Given the description of an element on the screen output the (x, y) to click on. 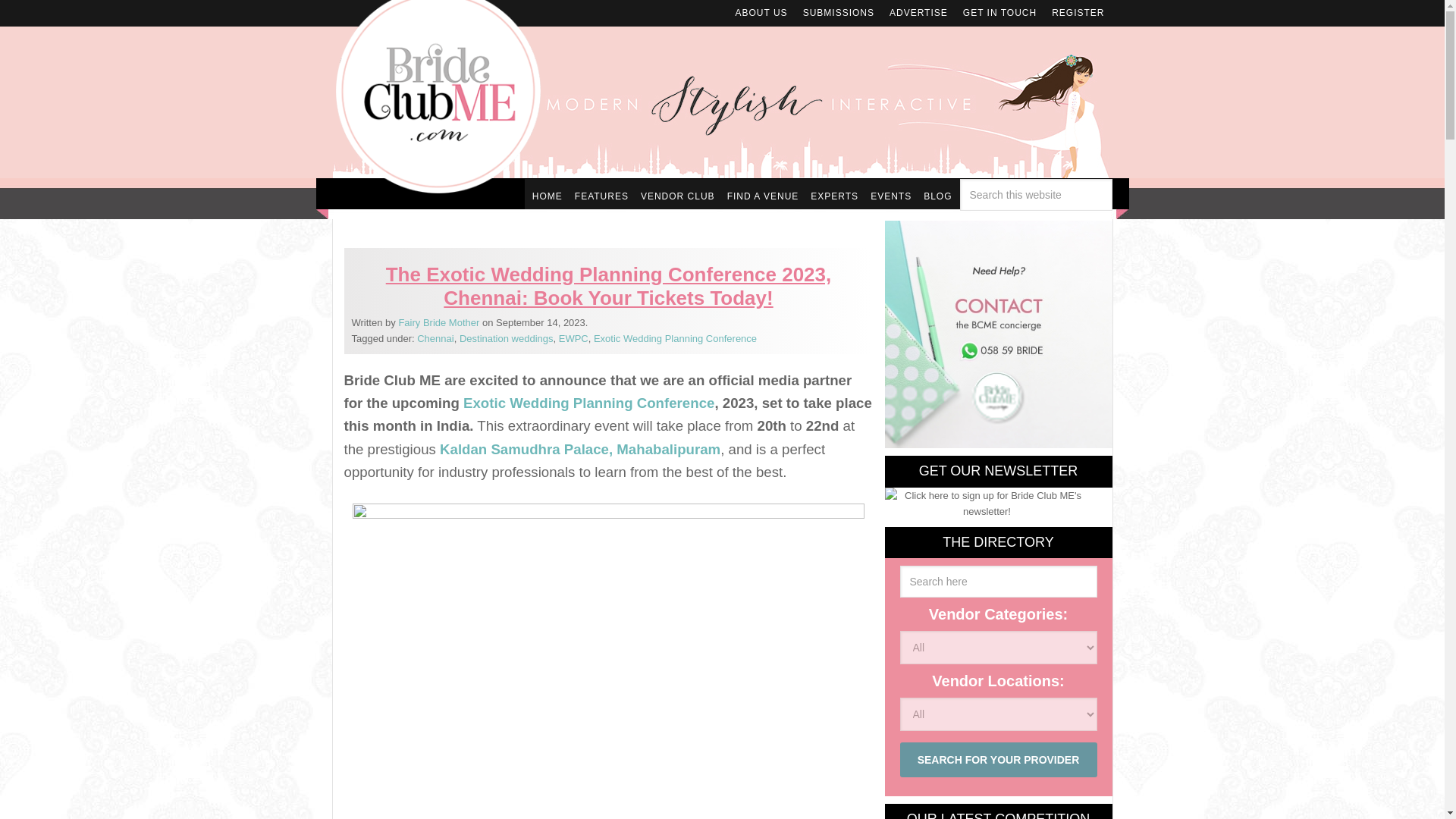
Search For Your Provider (997, 759)
GET IN TOUCH (999, 12)
ABOUT US (761, 12)
Search For Your Provider (997, 759)
How to advertise your wedding services on Bride Club ME (918, 12)
Submit your real wedding or styled shoot here (838, 12)
Register with Bride Club ME to join the forums (1077, 12)
REGISTER (1077, 12)
How to get in touch with the Bride Club ME Team (999, 12)
ADVERTISE (918, 12)
SUBMISSIONS (838, 12)
About Bride Club ME (761, 12)
